Given the description of an element on the screen output the (x, y) to click on. 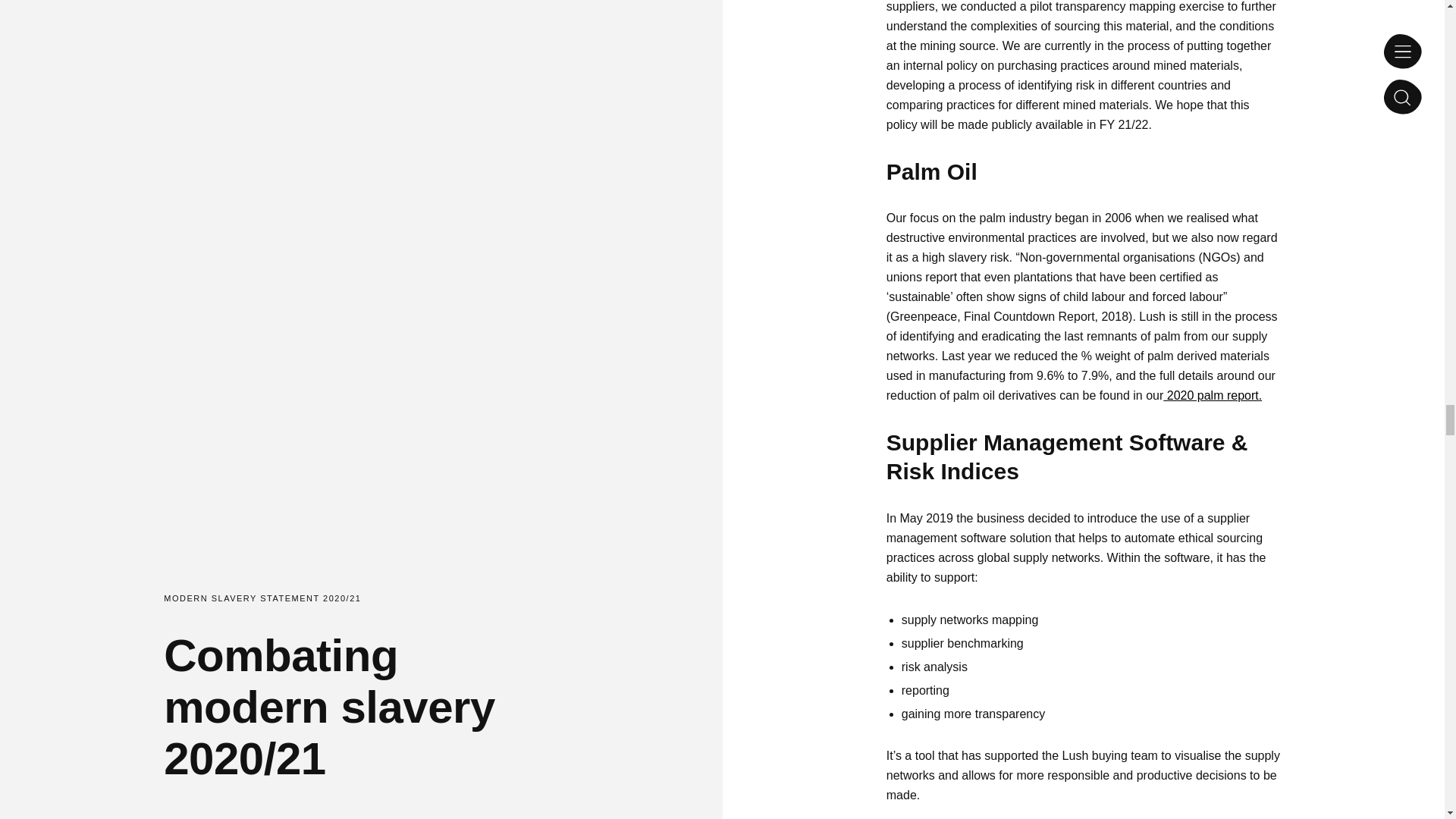
2020 palm report. (1212, 395)
